Given the description of an element on the screen output the (x, y) to click on. 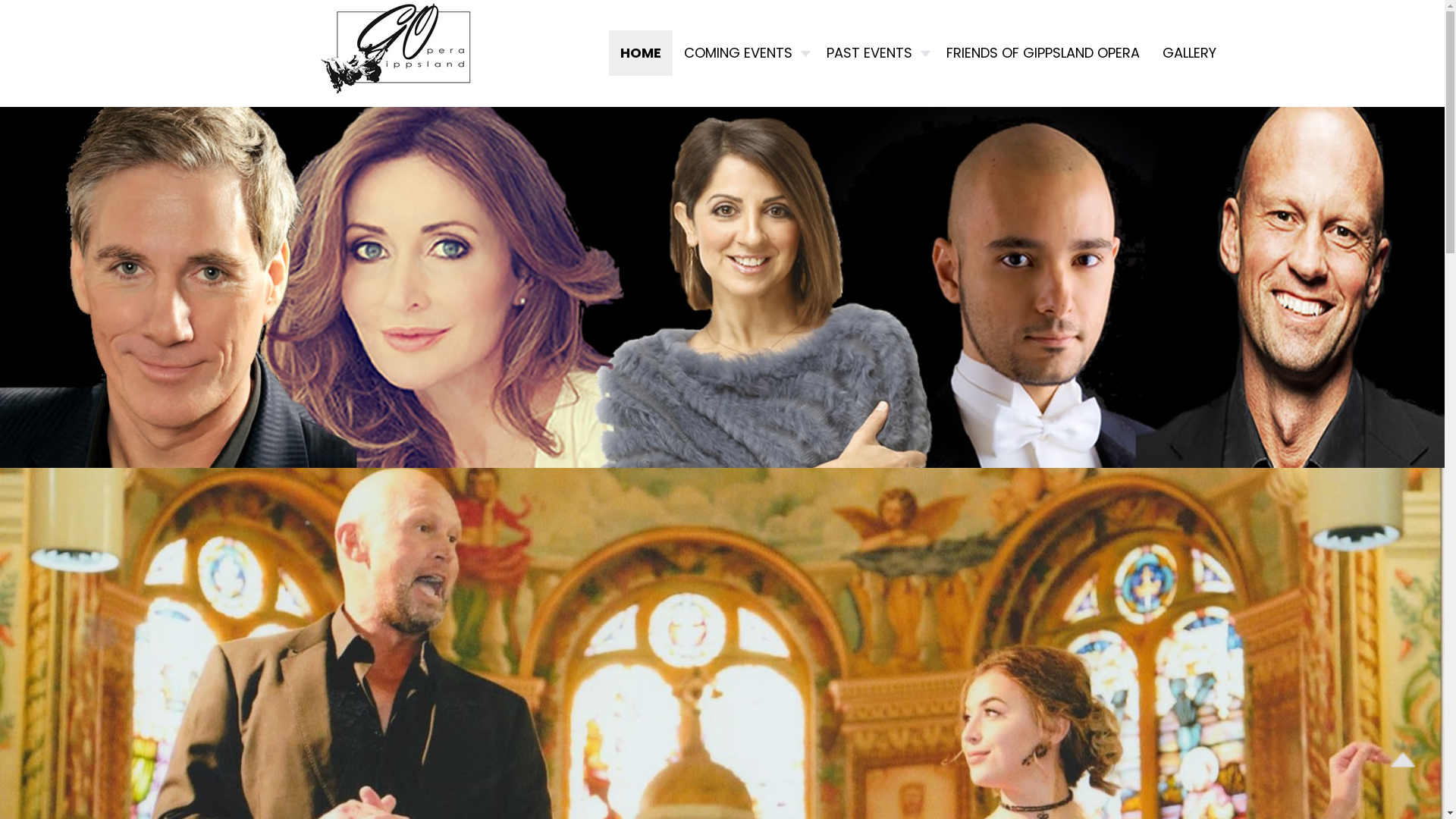
FRIENDS OF GIPPSLAND OPERA Element type: text (1042, 52)
GALLERY Element type: text (1189, 52)
HOME Element type: text (639, 52)
